Given the description of an element on the screen output the (x, y) to click on. 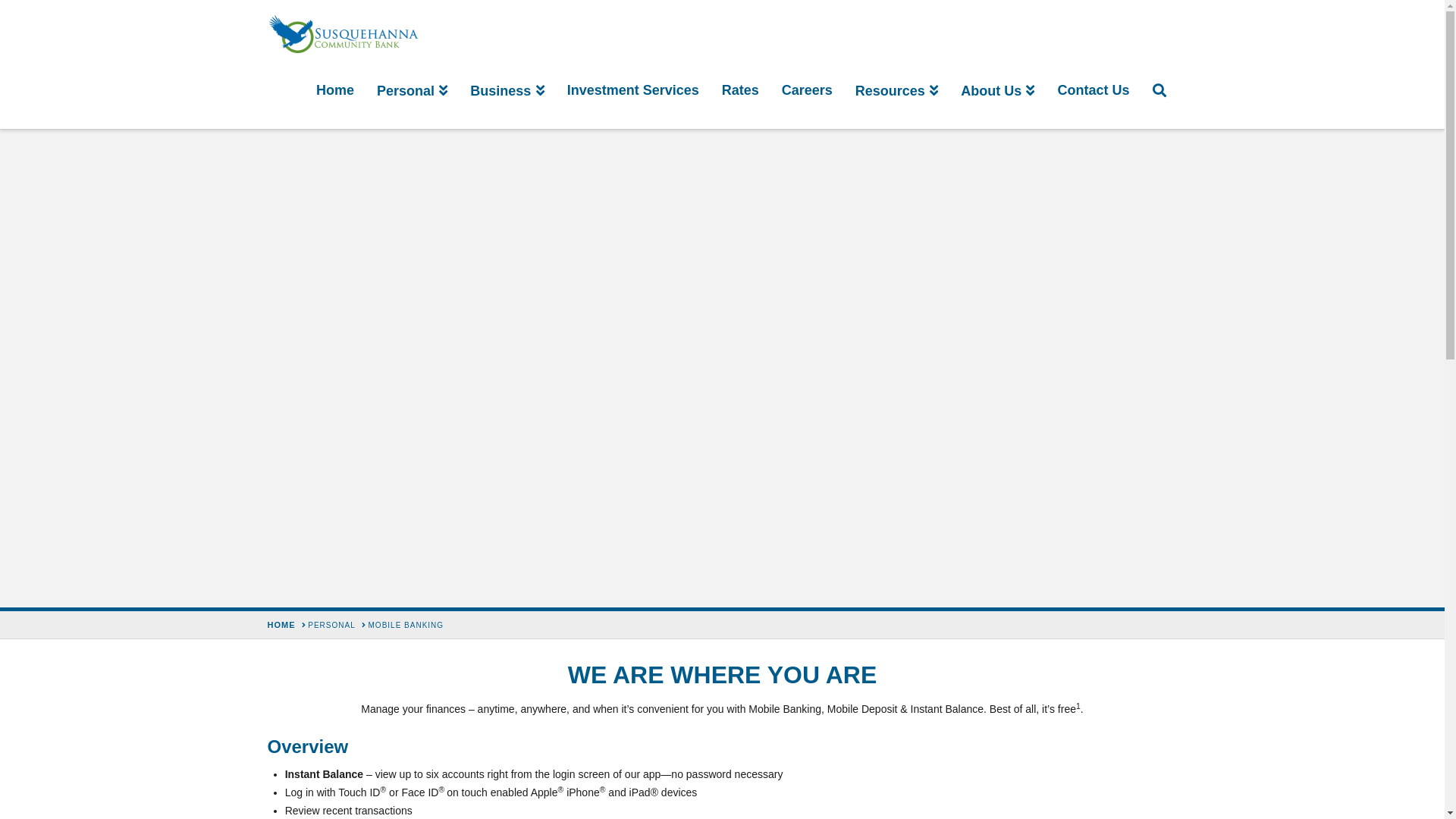
Resources Element type: text (896, 90)
MOBILE BANKING Element type: text (406, 625)
Rates Element type: text (740, 90)
Personal Element type: text (411, 90)
Home Element type: text (334, 90)
Careers Element type: text (807, 90)
About Us Element type: text (997, 90)
Contact Us Element type: text (1092, 90)
Business Element type: text (506, 90)
Investment Services Element type: text (632, 90)
HOME Element type: text (280, 624)
PERSONAL Element type: text (330, 625)
